Given the description of an element on the screen output the (x, y) to click on. 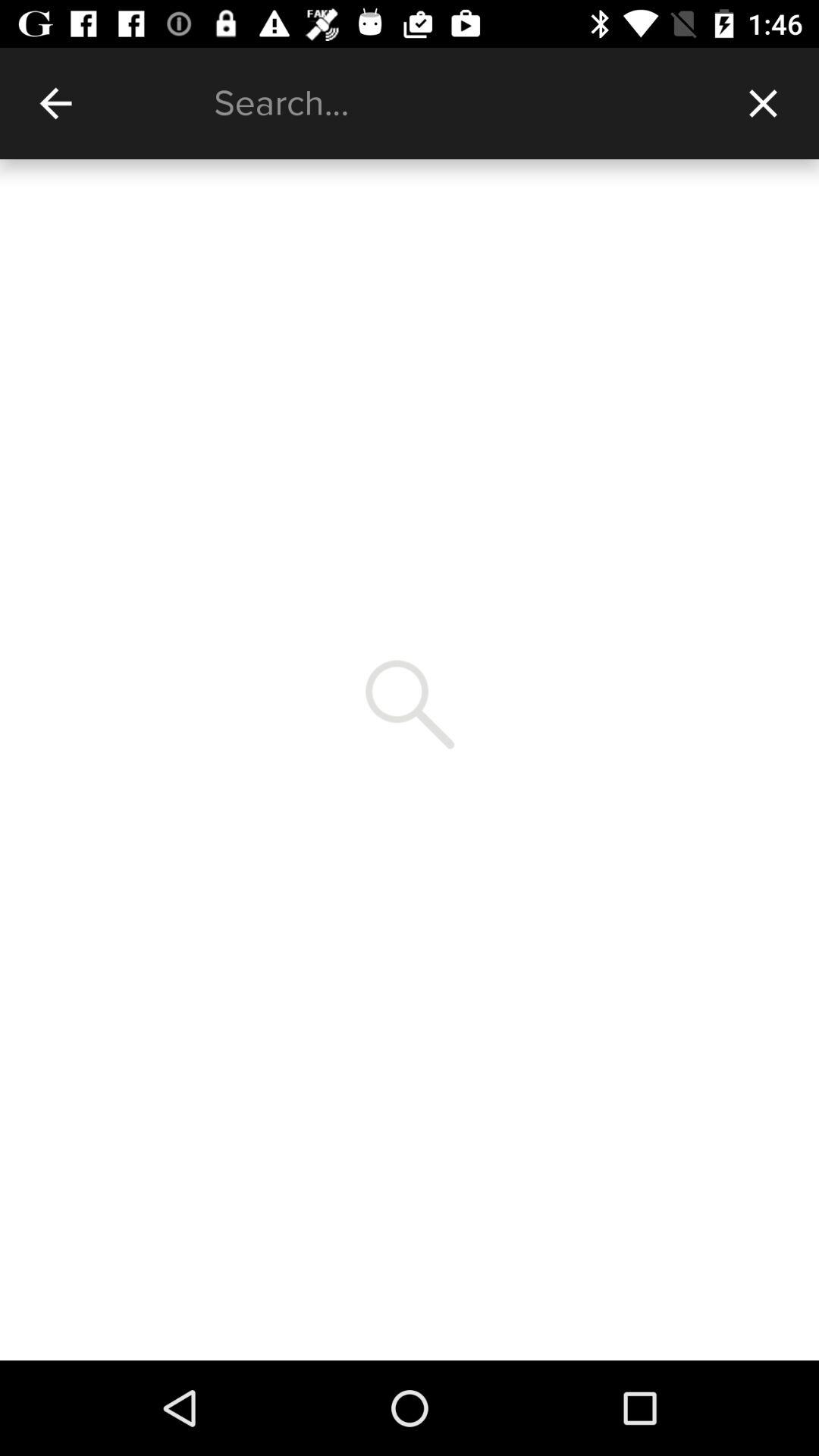
click item at the top left corner (55, 103)
